Given the description of an element on the screen output the (x, y) to click on. 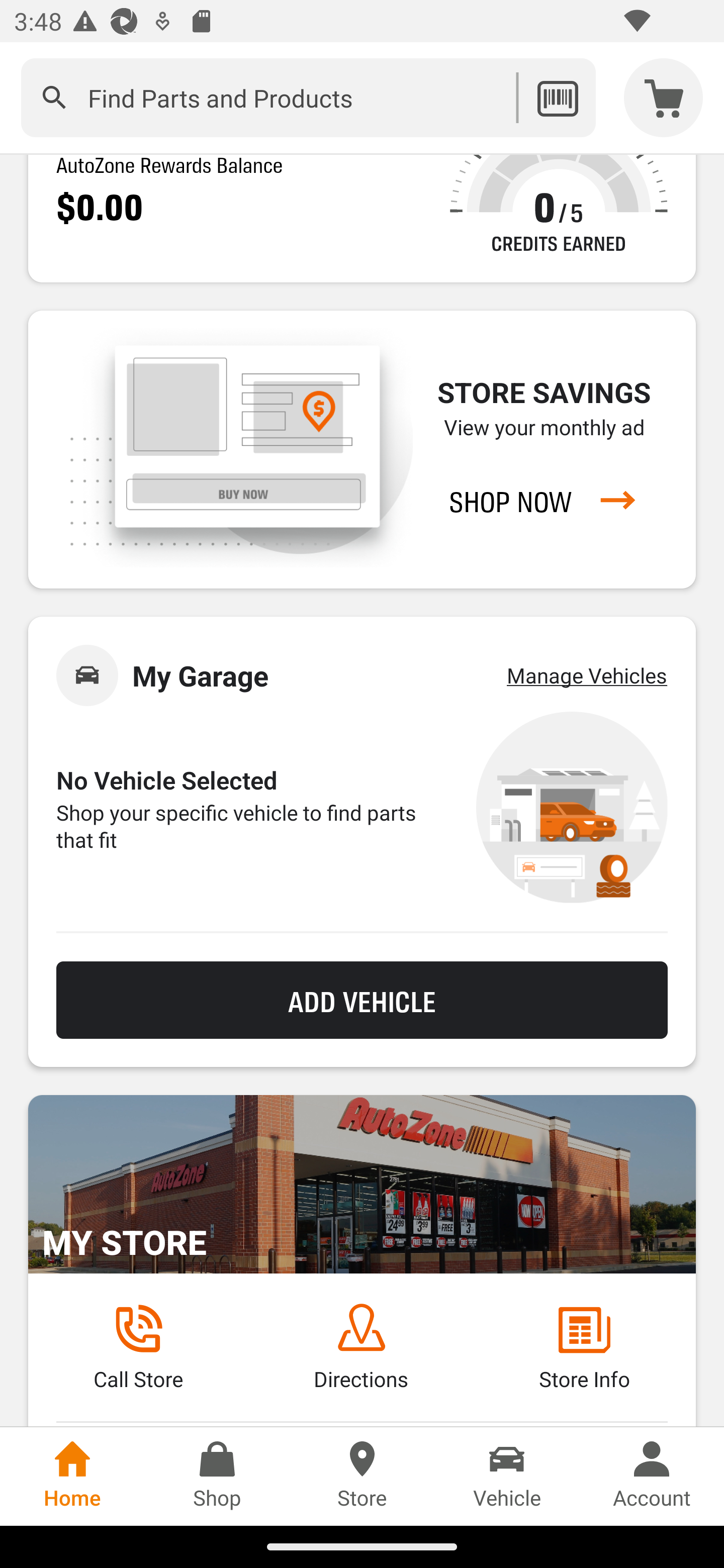
 scan-product-to-search  (557, 97)
 (54, 97)
Cart, no items  (663, 97)
Manage Vehicles (586, 675)
ADD VEHICLE (361, 999)
Call Store  Call Store (138, 1346)
Directions  Directions (361, 1346)
Store Info  Store Info (584, 1346)
Home (72, 1475)
Shop (216, 1475)
Store (361, 1475)
Vehicle (506, 1475)
Account (651, 1475)
